Given the description of an element on the screen output the (x, y) to click on. 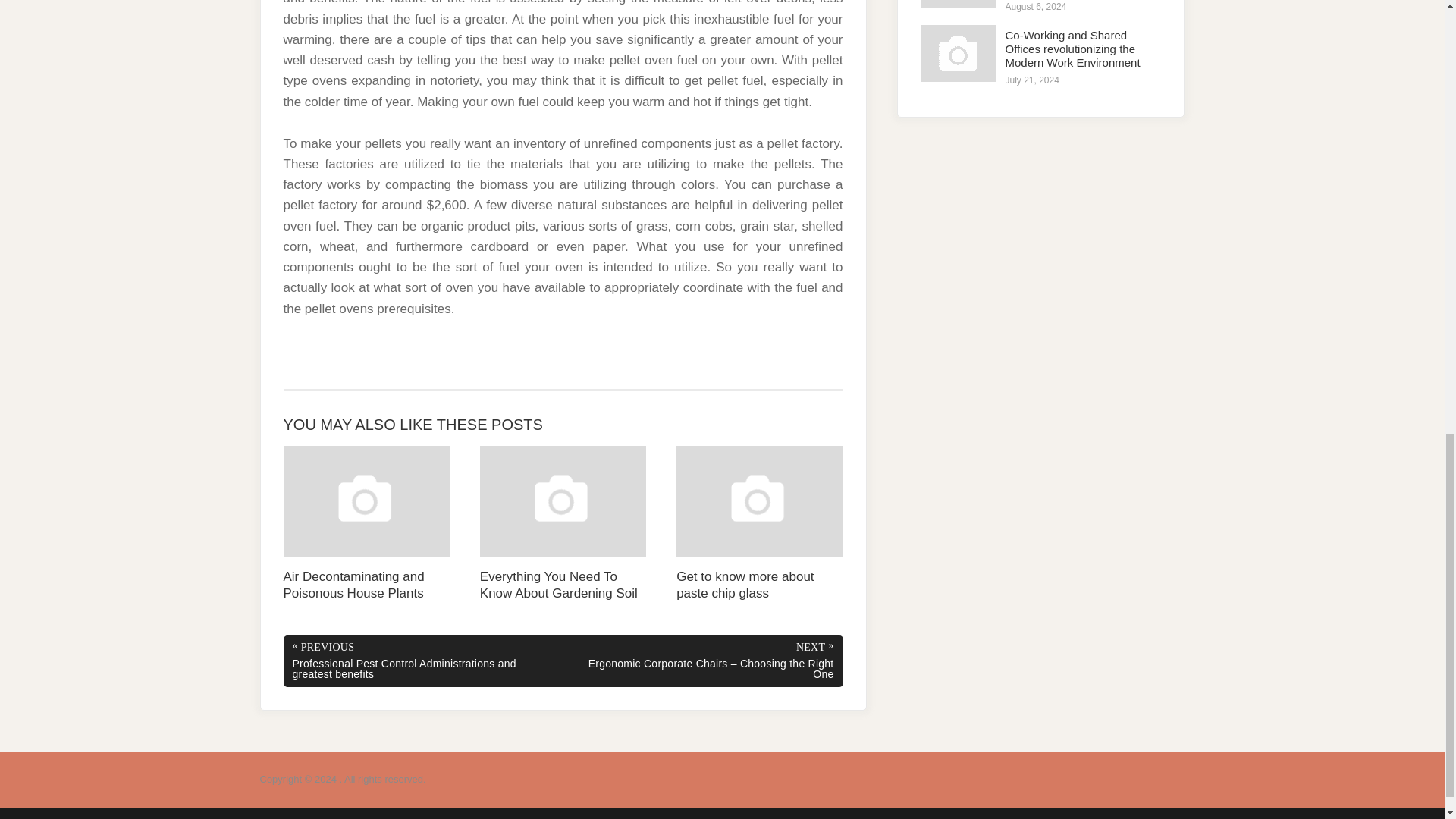
Get to know more about paste chip glass (760, 523)
Air Decontaminating and Poisonous House Plants (366, 523)
Everything You Need To Know About Gardening Soil (563, 523)
Get to know more about paste chip glass (760, 523)
Air Decontaminating and Poisonous House Plants (366, 523)
Everything You Need To Know About Gardening Soil (563, 523)
